Given the description of an element on the screen output the (x, y) to click on. 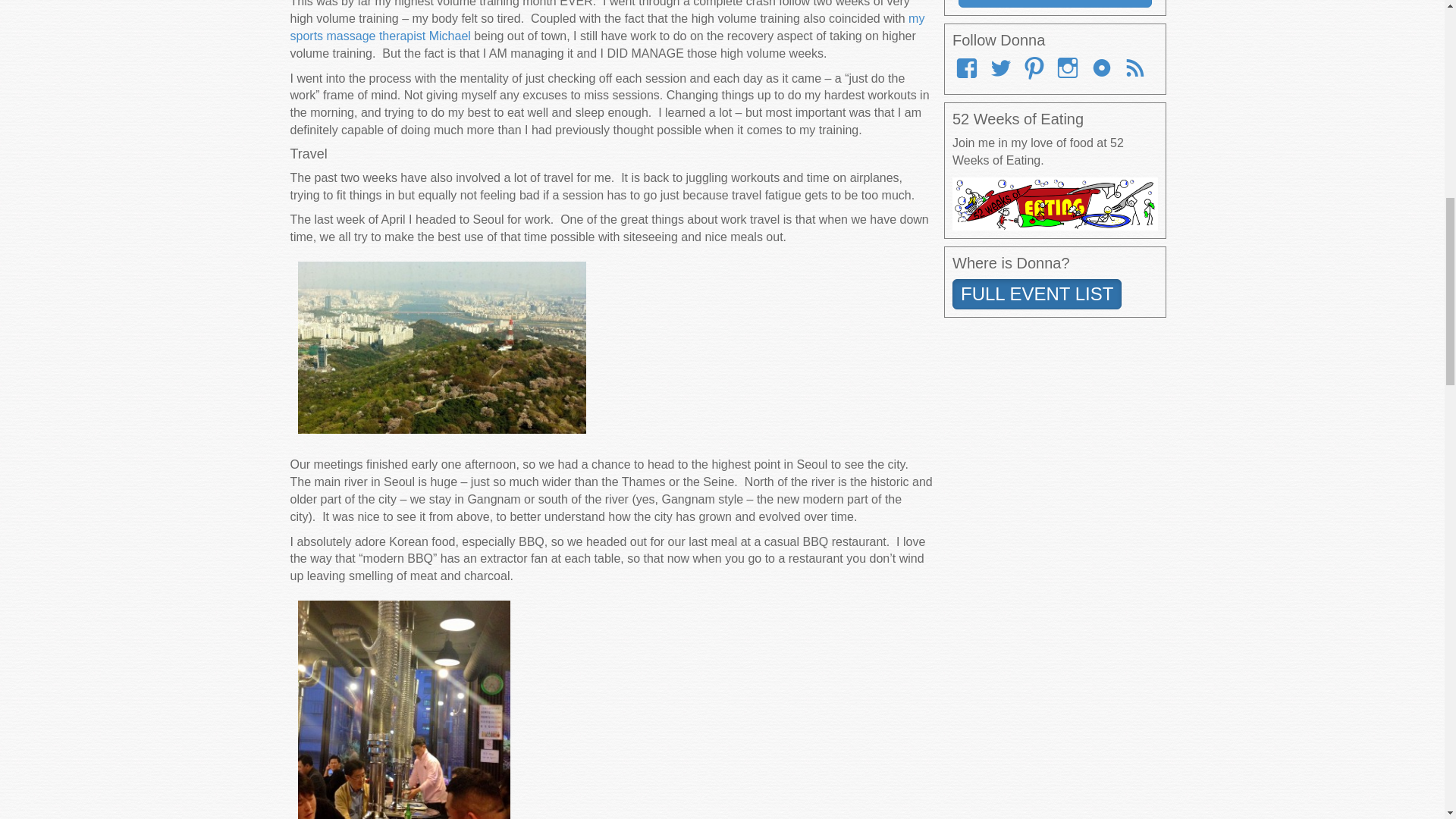
my sports massage therapist Michael (606, 27)
CMTA STAR APPEAL (1054, 3)
FULL EVENT LIST (1036, 294)
